Given the description of an element on the screen output the (x, y) to click on. 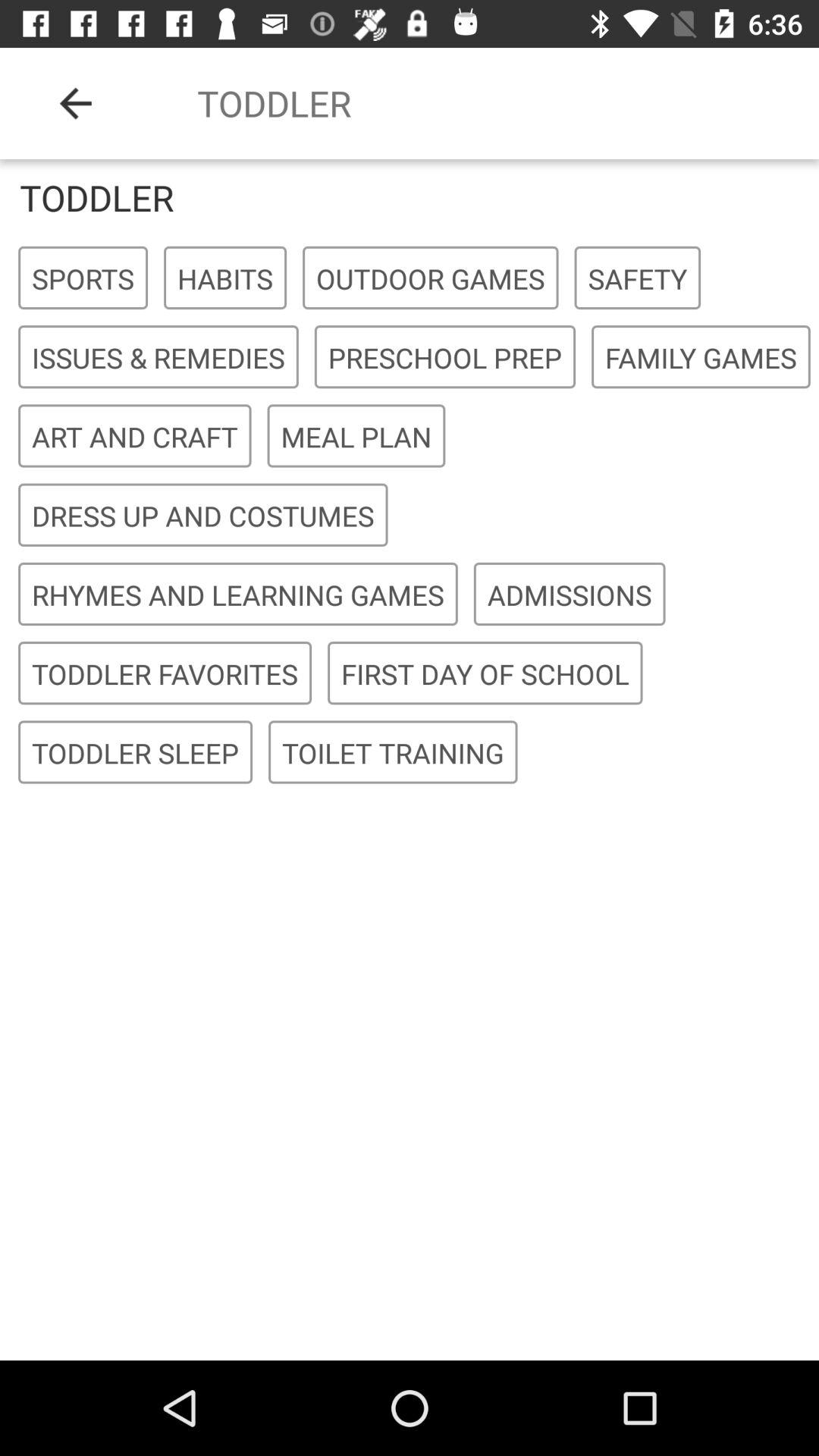
go back (75, 103)
